Given the description of an element on the screen output the (x, y) to click on. 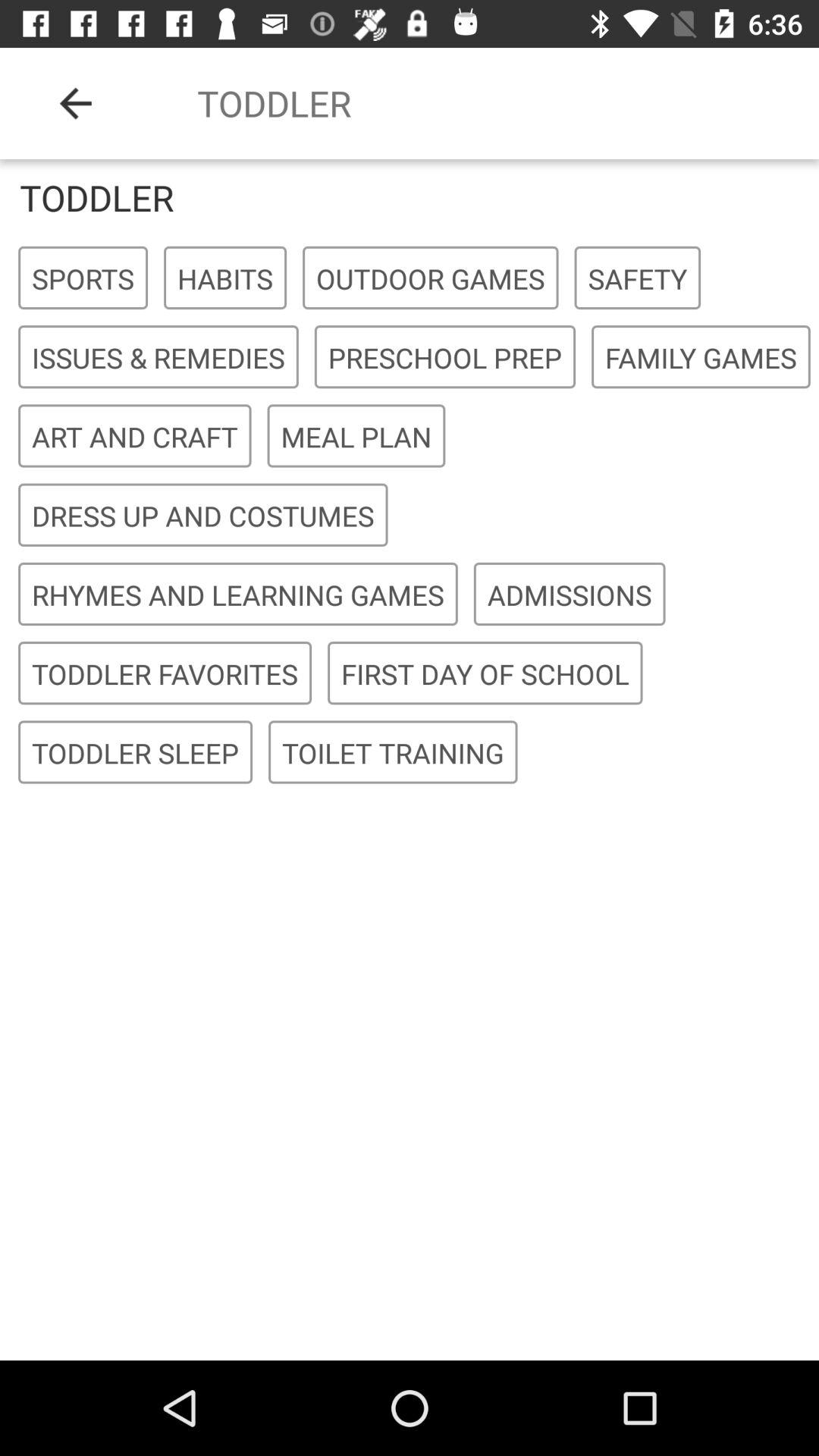
go back (75, 103)
